Given the description of an element on the screen output the (x, y) to click on. 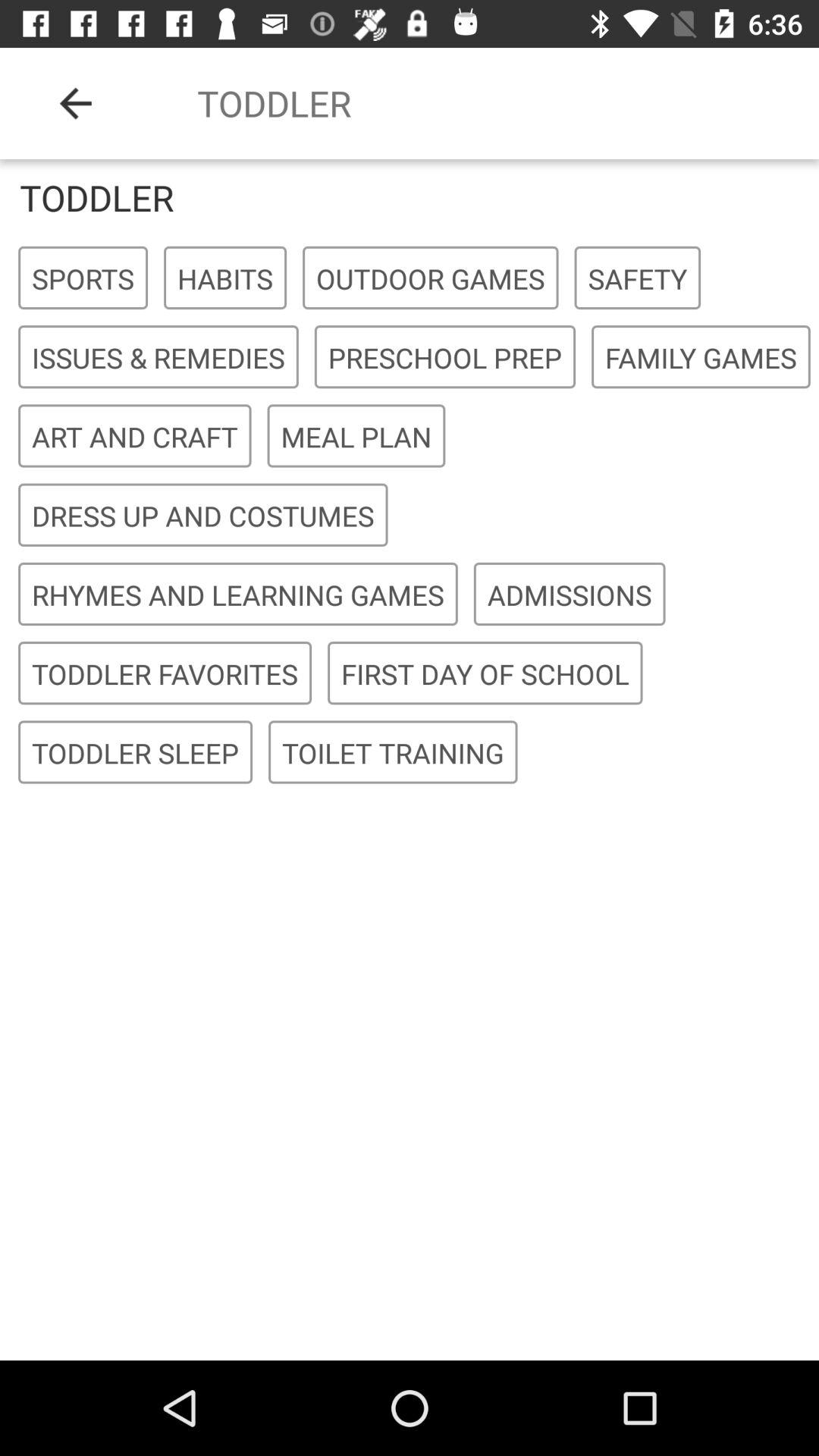
go back (75, 103)
